Given the description of an element on the screen output the (x, y) to click on. 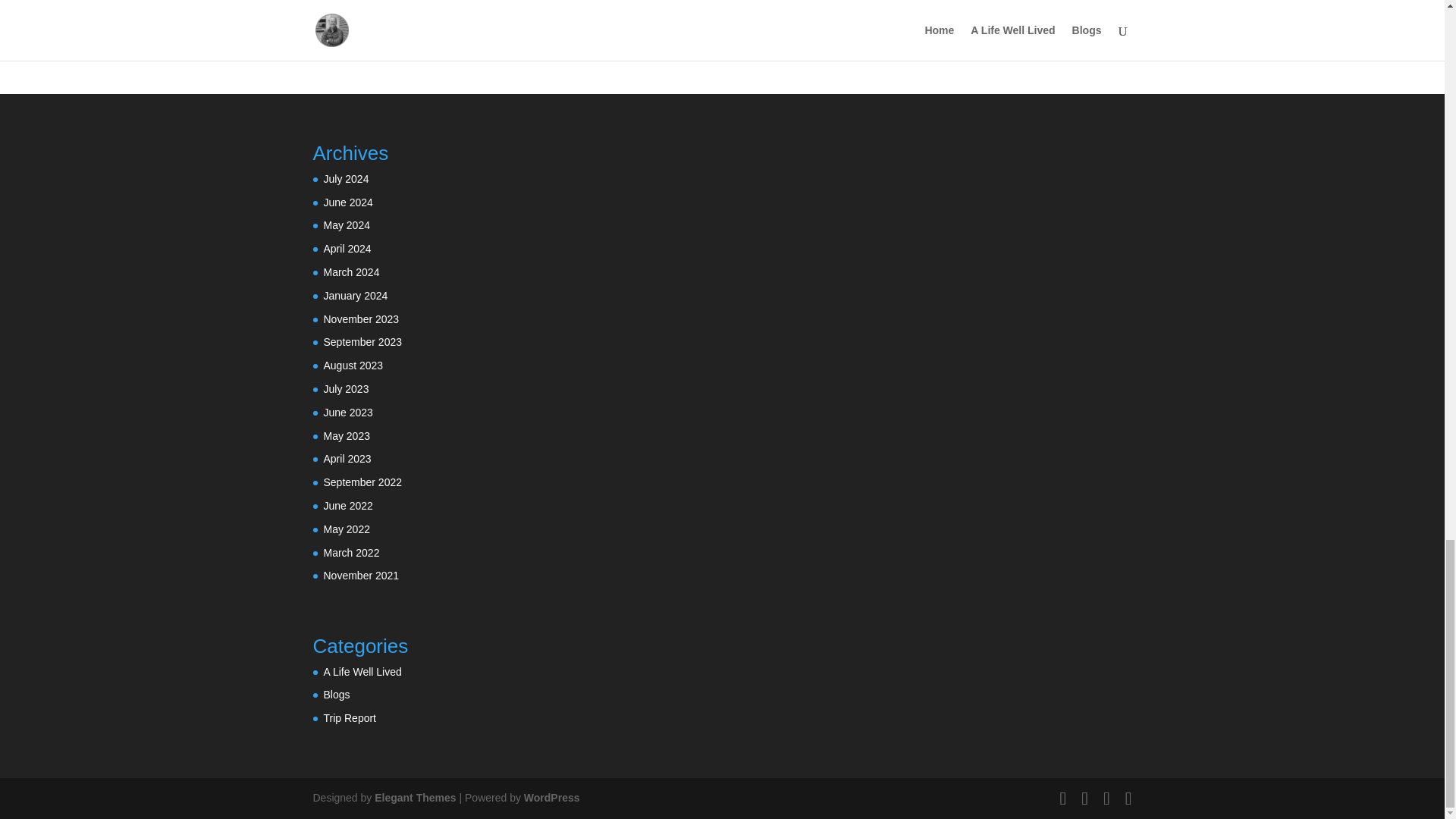
March 2022 (350, 552)
September 2022 (362, 481)
May 2023 (346, 435)
Trip Report (349, 717)
March 2024 (350, 272)
Blogs (336, 694)
June 2023 (347, 412)
June 2022 (347, 505)
A Life Well Lived (362, 671)
WordPress (551, 797)
Premium WordPress Themes (414, 797)
Elegant Themes (414, 797)
August 2023 (352, 365)
July 2024 (345, 178)
June 2024 (347, 202)
